Given the description of an element on the screen output the (x, y) to click on. 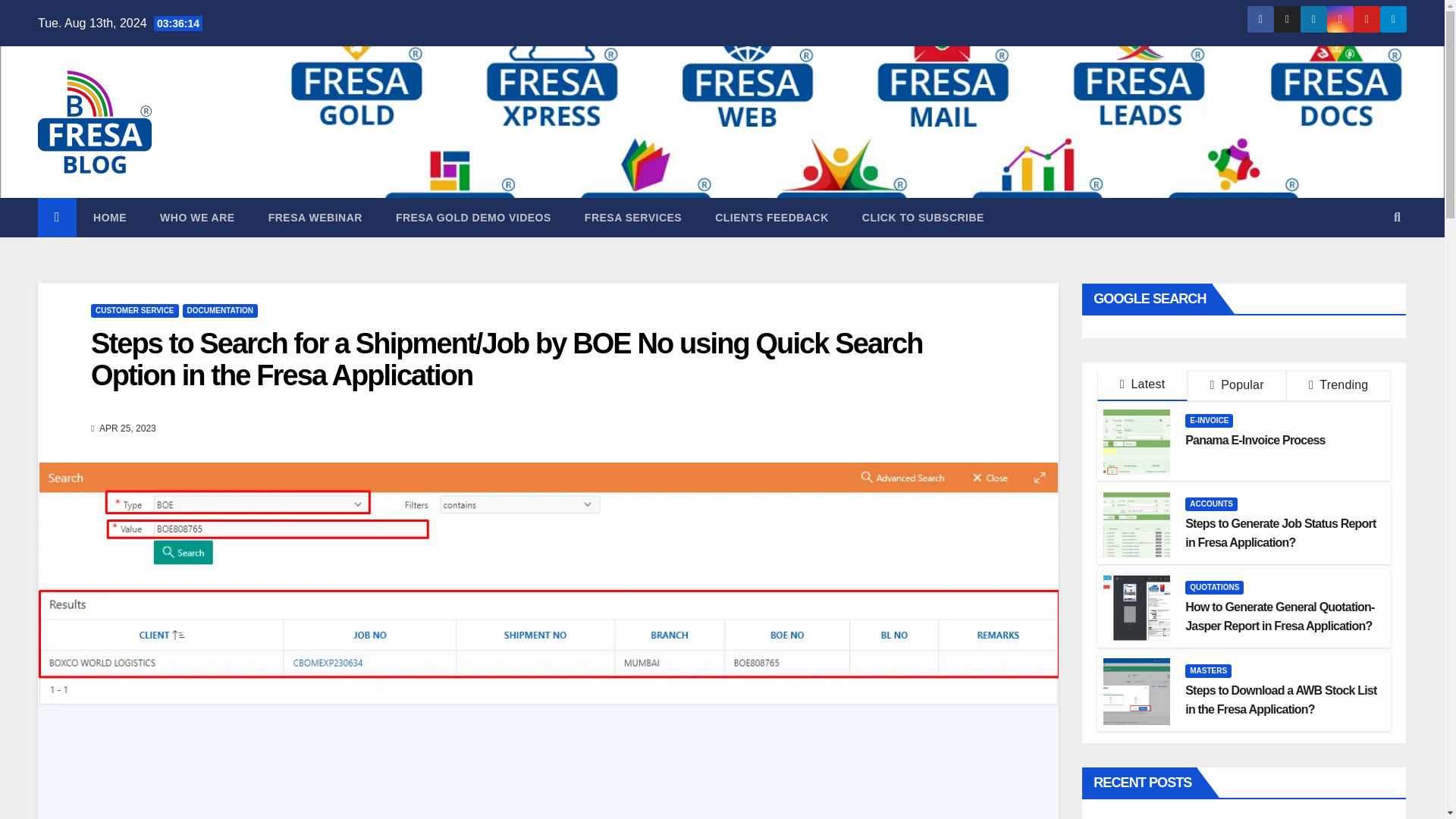
CLICK TO SUBSCRIBE (923, 217)
Home (109, 217)
Fresa Webinar (314, 217)
Fresa Gold Demo Videos (472, 217)
CUSTOMER SERVICE (134, 310)
Click to Subscribe (923, 217)
FRESA WEBINAR (314, 217)
CLIENTS FEEDBACK (771, 217)
Who we are (196, 217)
Clients Feedback (771, 217)
